Given the description of an element on the screen output the (x, y) to click on. 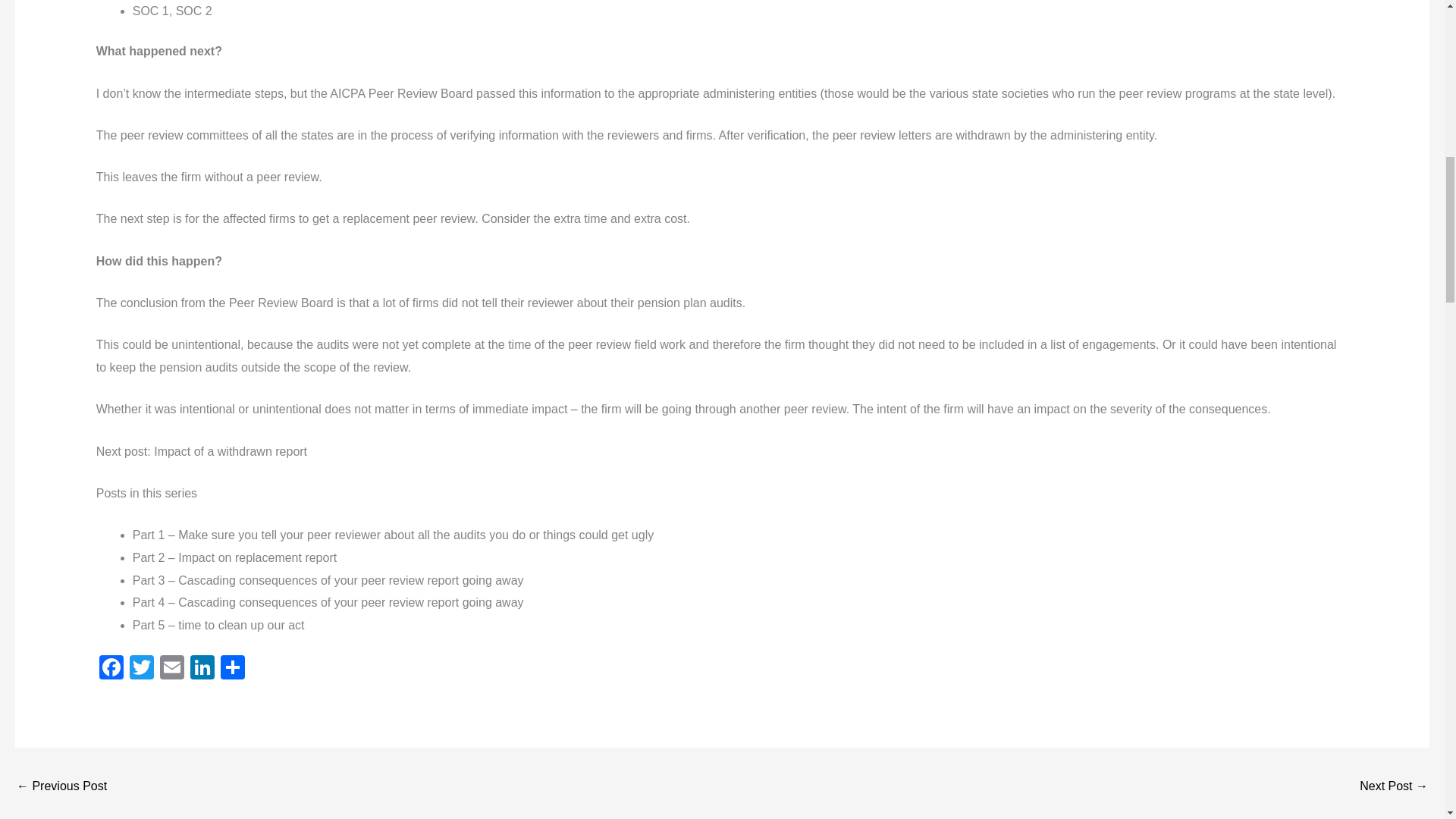
Email (172, 669)
Twitter (141, 669)
Facebook (111, 669)
LinkedIn (201, 669)
Facebook (111, 669)
LinkedIn (201, 669)
Twitter (141, 669)
Email (172, 669)
Share (231, 669)
